Given the description of an element on the screen output the (x, y) to click on. 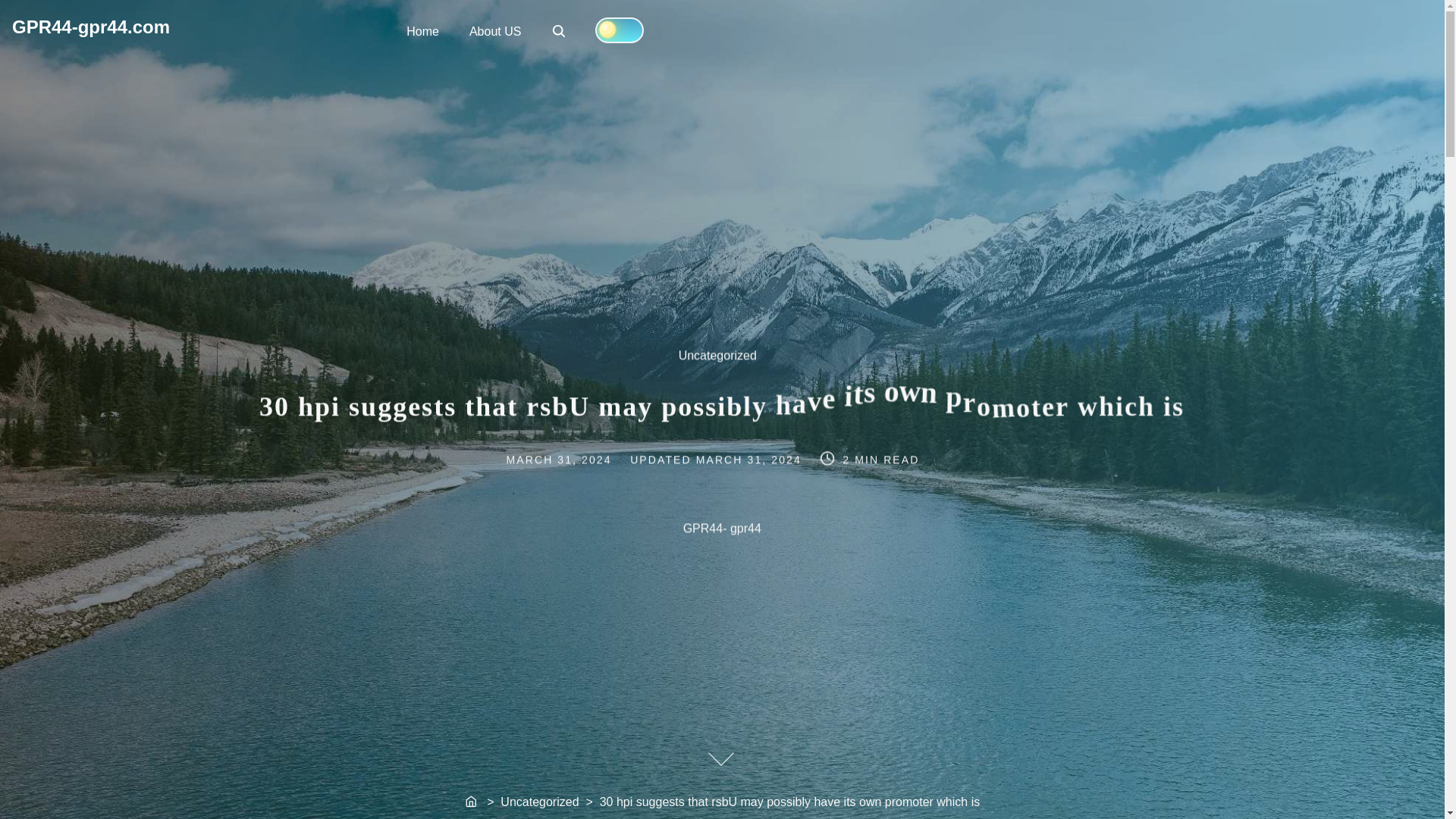
MARCH 31, 2024 (559, 31)
About US (750, 458)
Home (494, 30)
Uncategorized (422, 30)
GPR44-gpr44.com (726, 363)
Search (90, 26)
Home (558, 30)
MARCH 31, 2024 (472, 802)
